Given the description of an element on the screen output the (x, y) to click on. 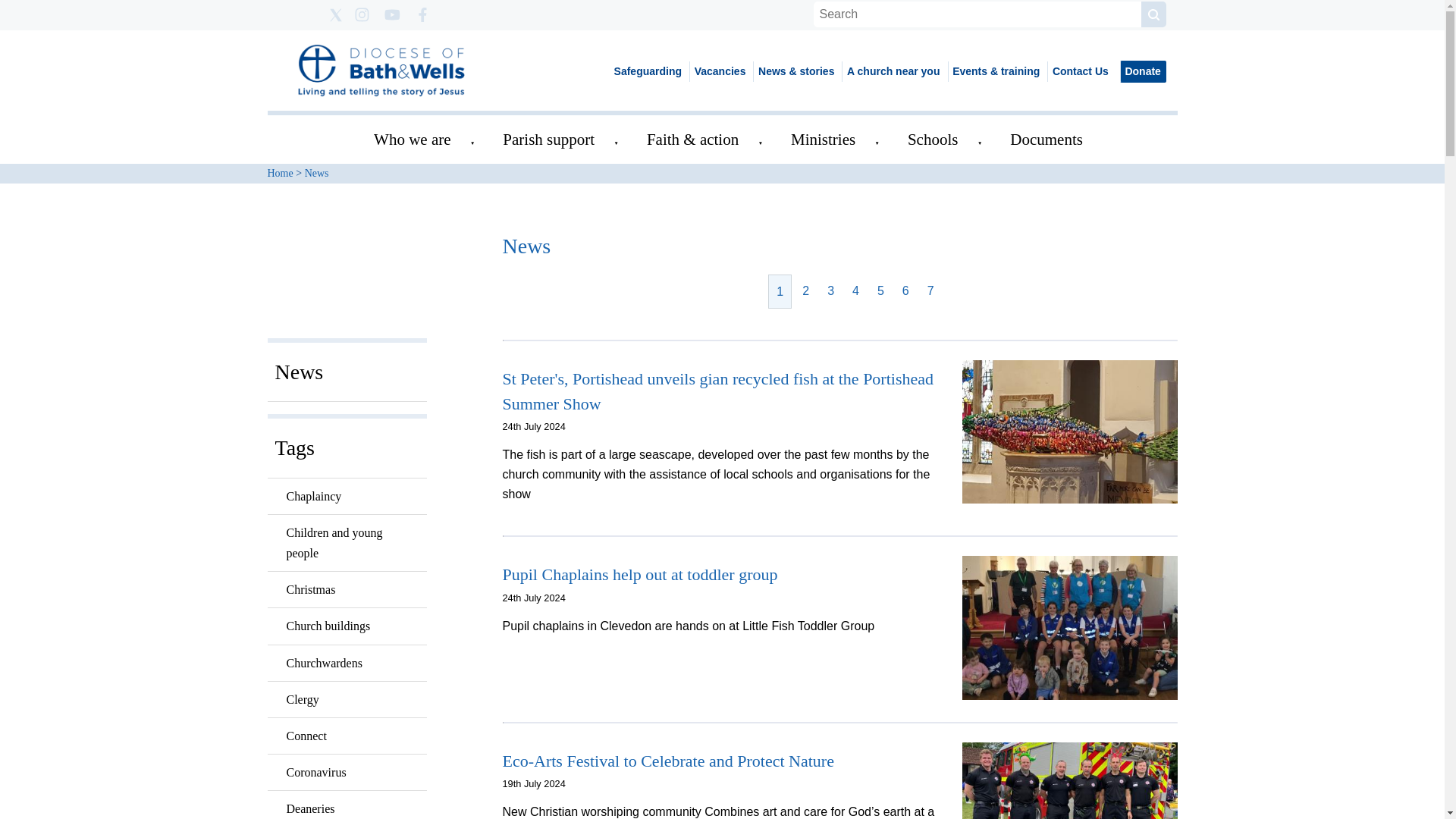
Safeguarding (647, 71)
A church near you (892, 71)
Donate (1142, 71)
Vacancies (718, 71)
Logo (381, 70)
Contact Us (1079, 71)
